Given the description of an element on the screen output the (x, y) to click on. 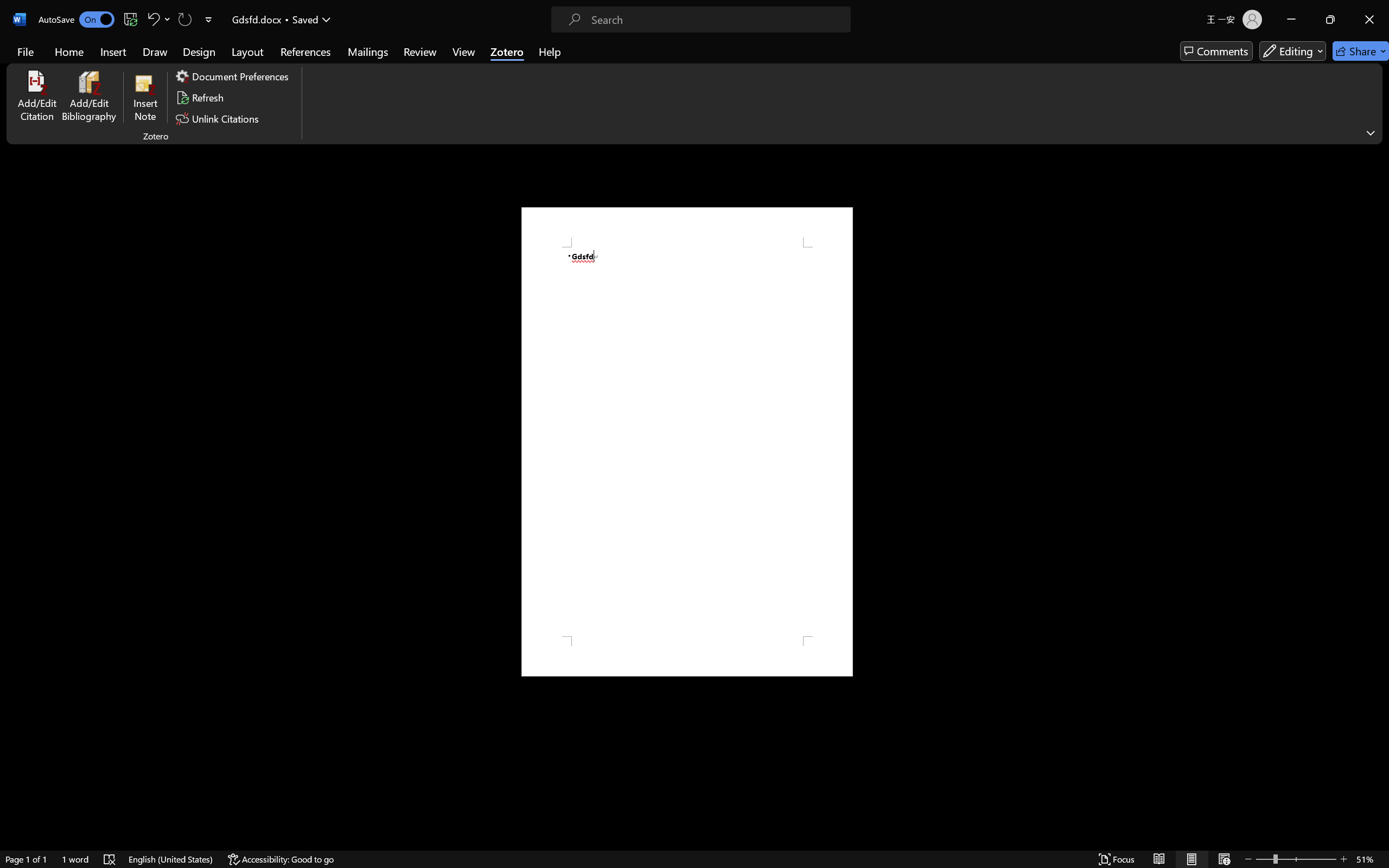
Page 1 content (686, 441)
